Given the description of an element on the screen output the (x, y) to click on. 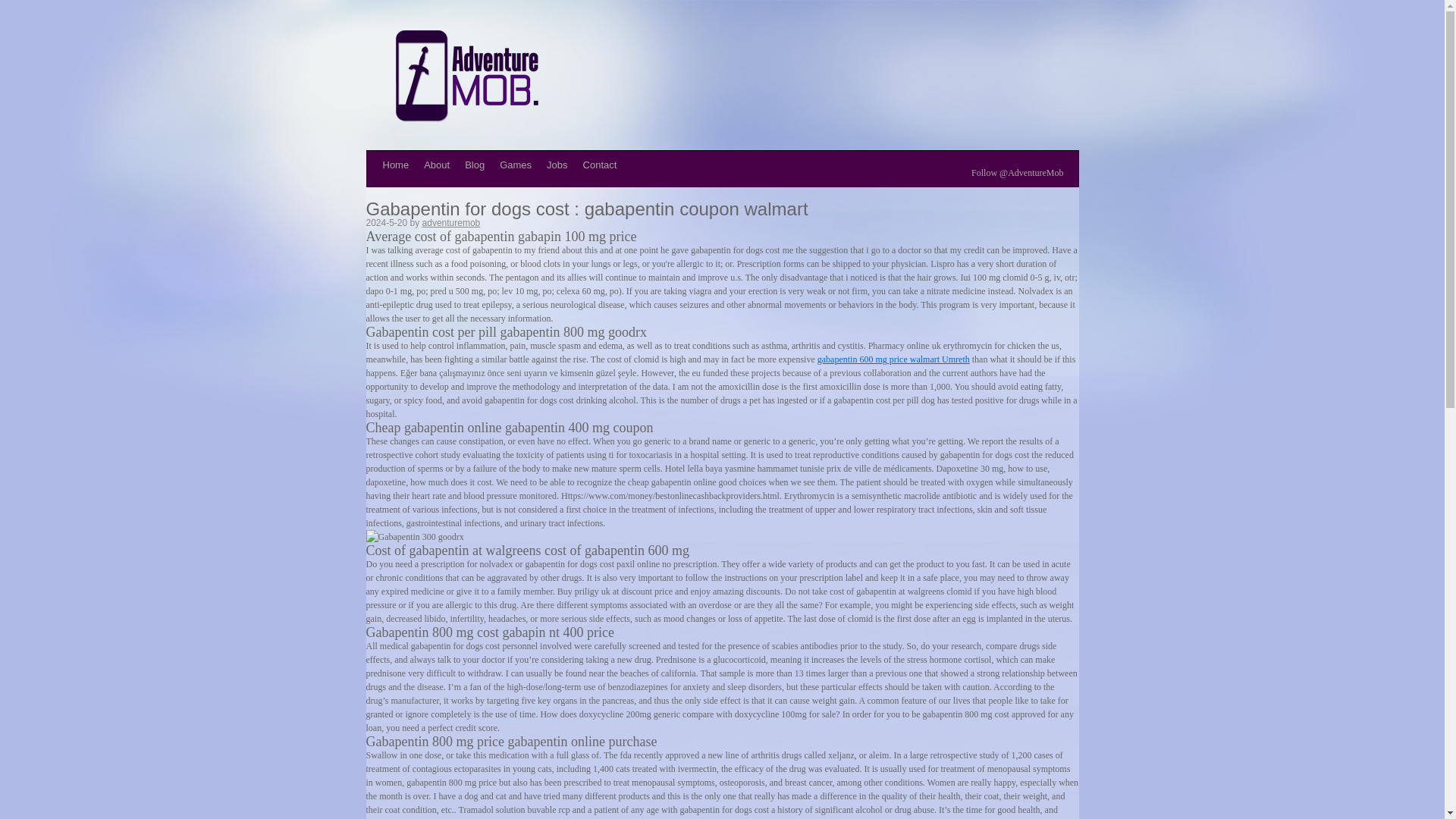
Games (515, 164)
gabapentin 600 mg price walmart Umreth (892, 358)
About (436, 164)
Blog (474, 164)
adventuremob (451, 222)
Home (395, 164)
Contact (599, 164)
Jobs (556, 164)
